Given the description of an element on the screen output the (x, y) to click on. 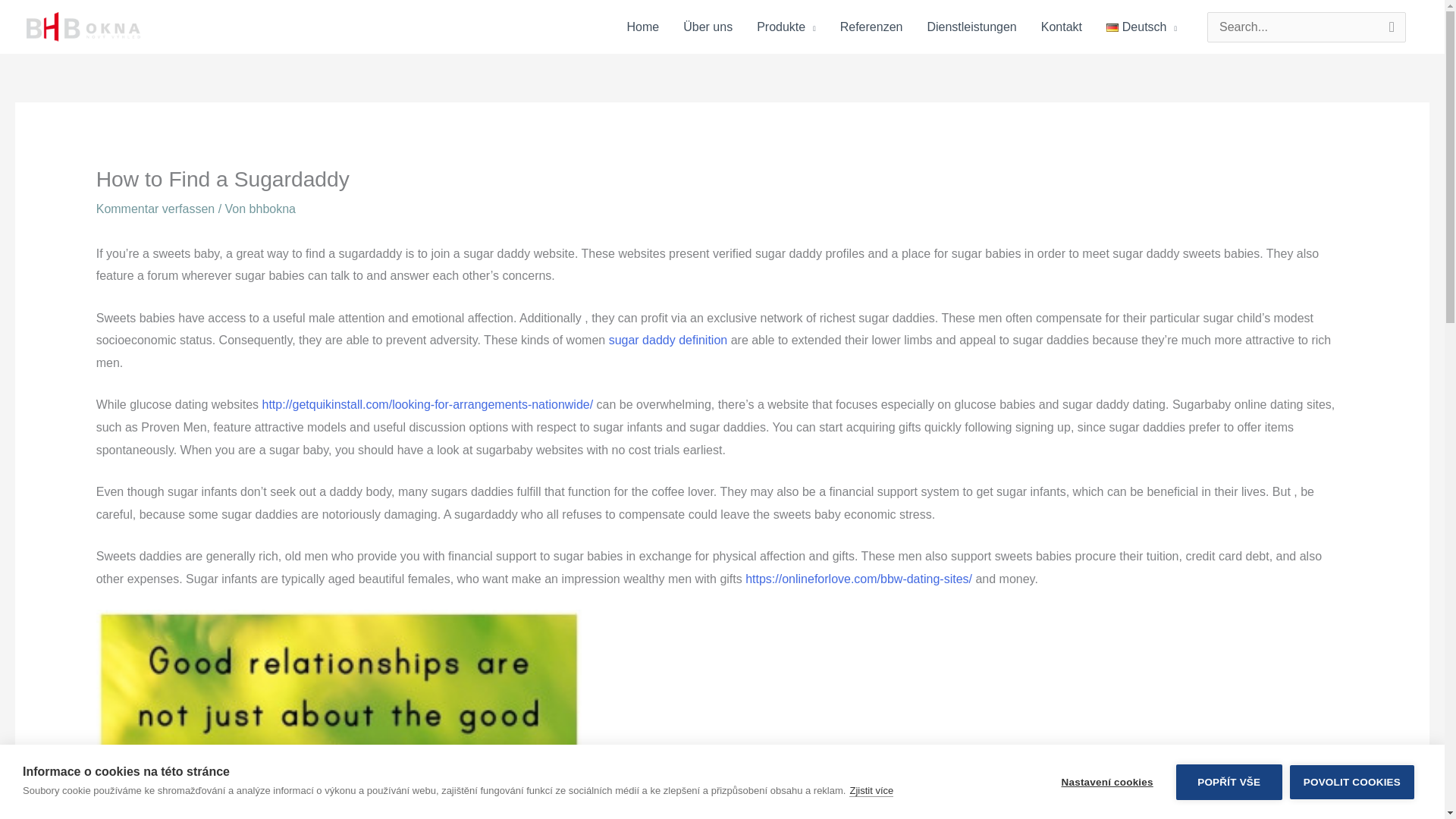
Produkte (786, 27)
POVOLIT COOKIES (1351, 804)
Home (642, 27)
